Given the description of an element on the screen output the (x, y) to click on. 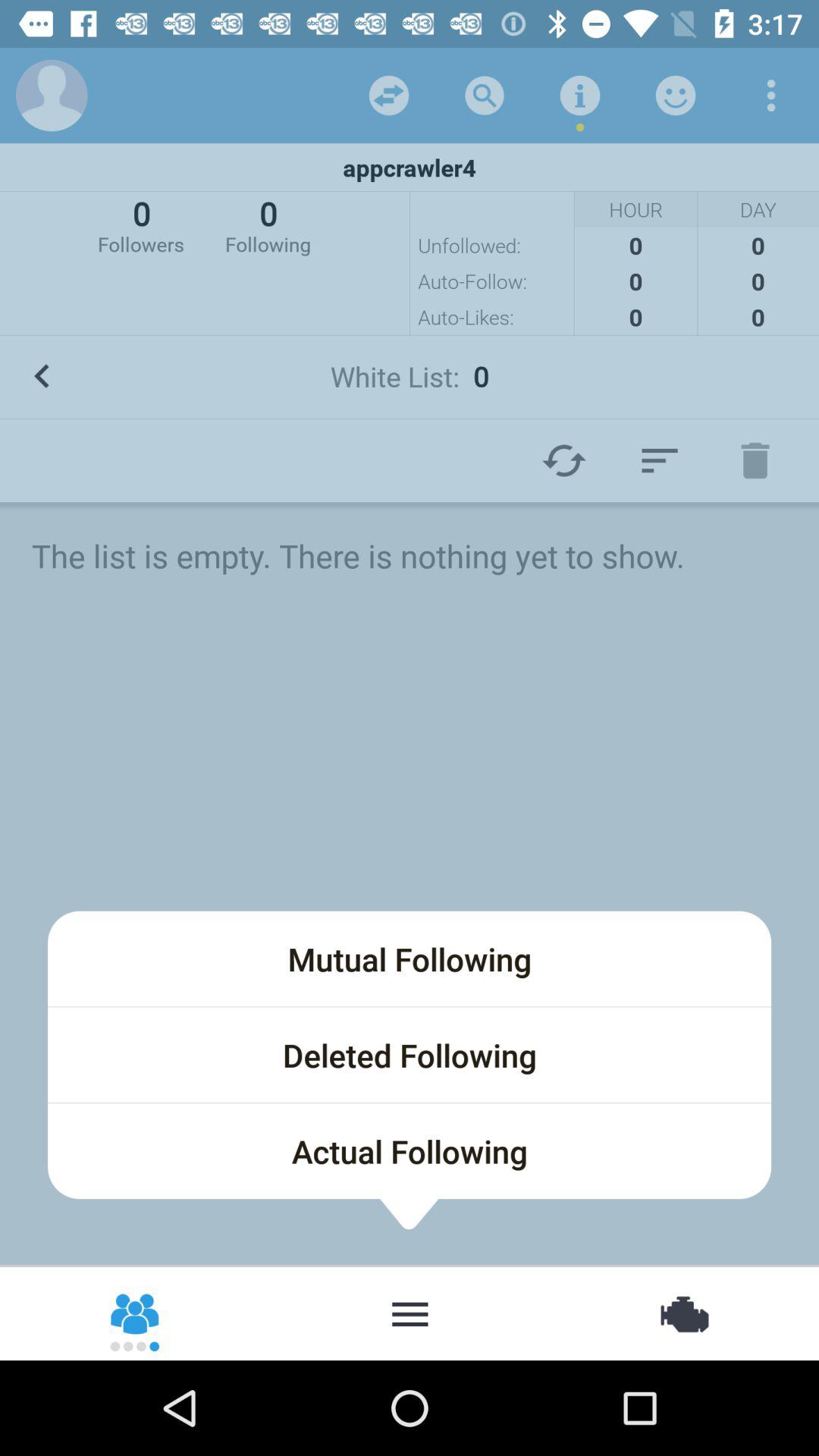
search (484, 95)
